Given the description of an element on the screen output the (x, y) to click on. 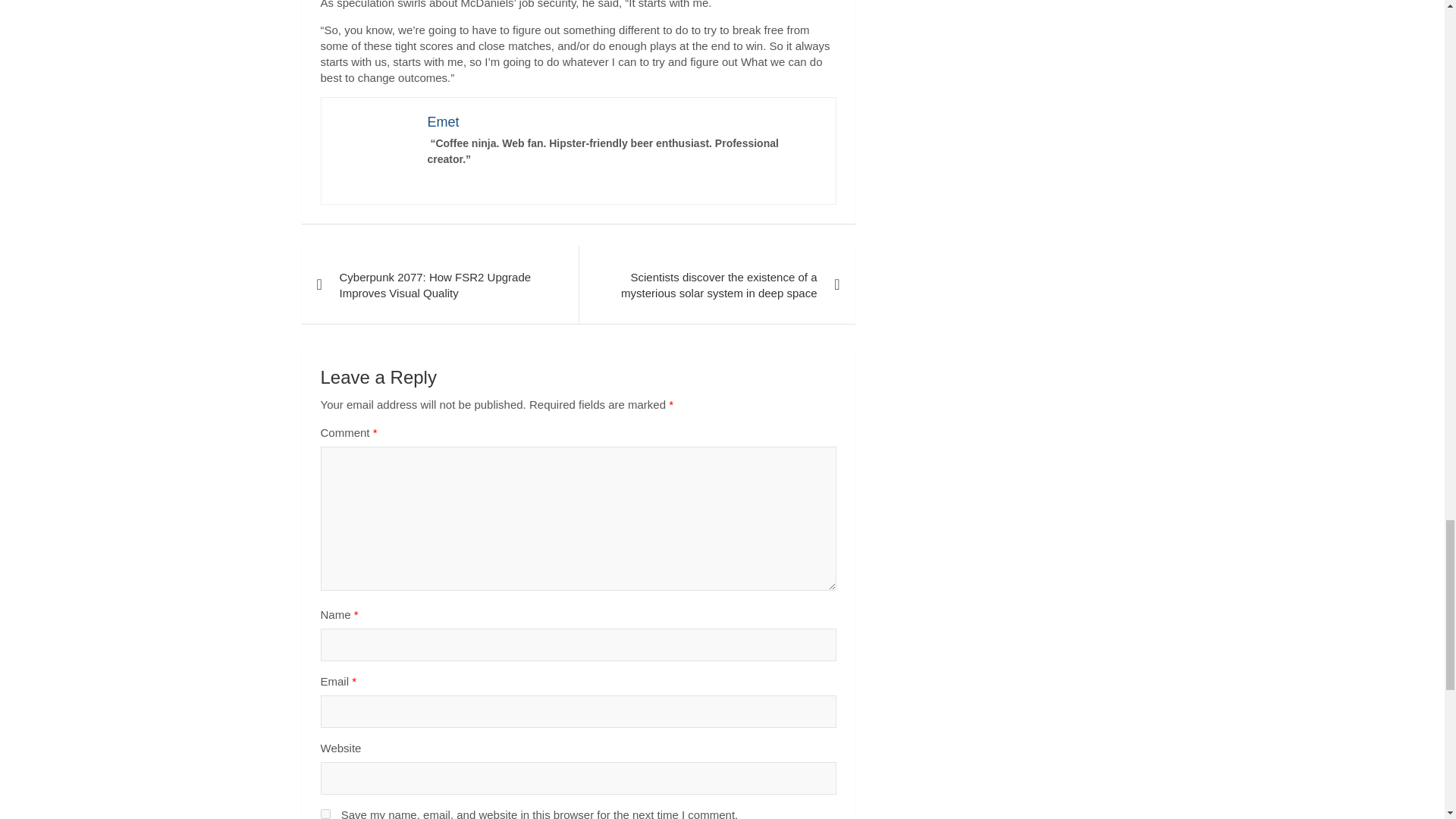
Emet (444, 121)
yes (325, 814)
Cyberpunk 2077: How FSR2 Upgrade Improves Visual Quality (439, 284)
